Given the description of an element on the screen output the (x, y) to click on. 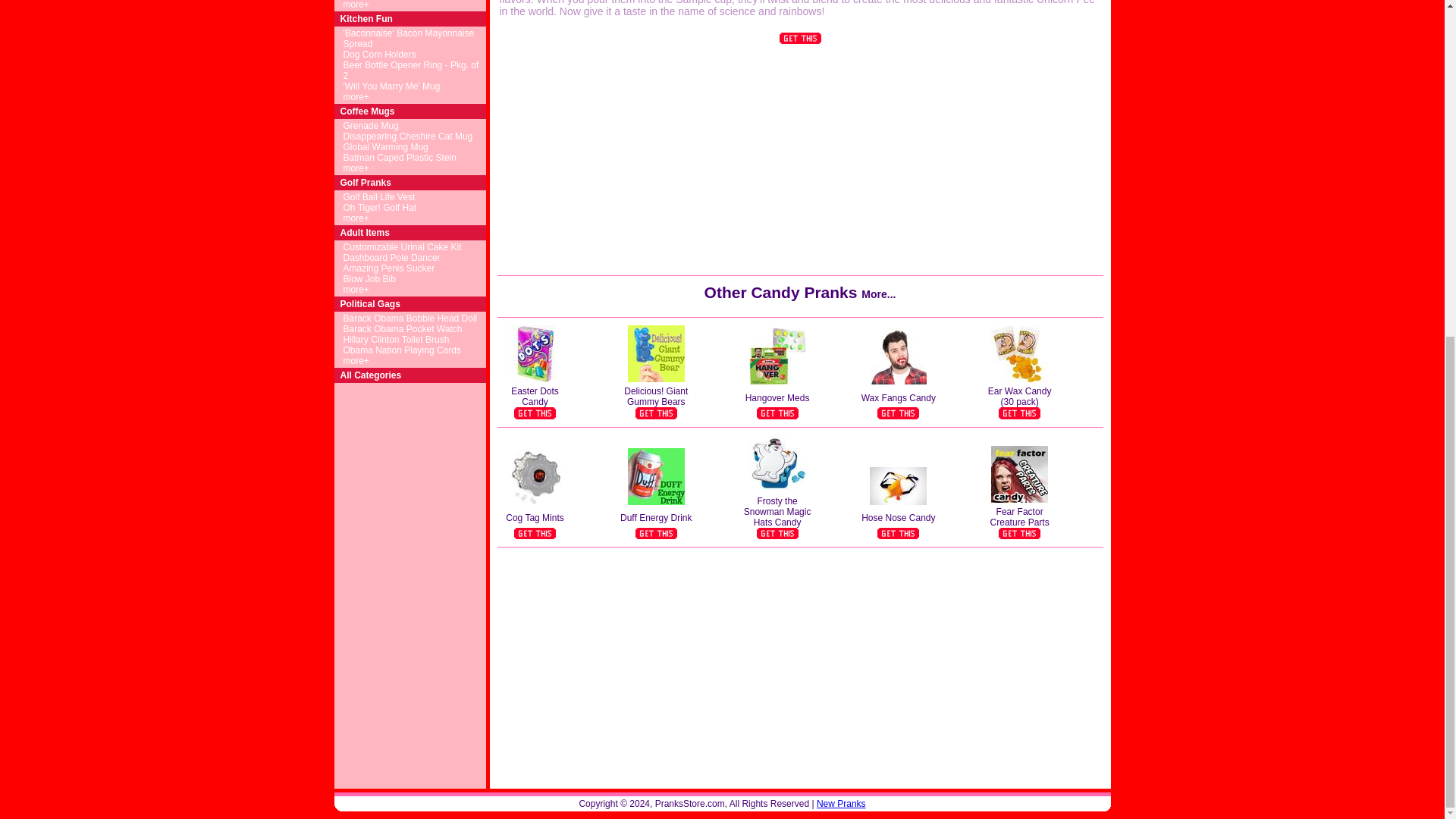
'Baconnaise' Bacon Mayonnaise Spread (408, 38)
Kitchen Fun (365, 18)
